Given the description of an element on the screen output the (x, y) to click on. 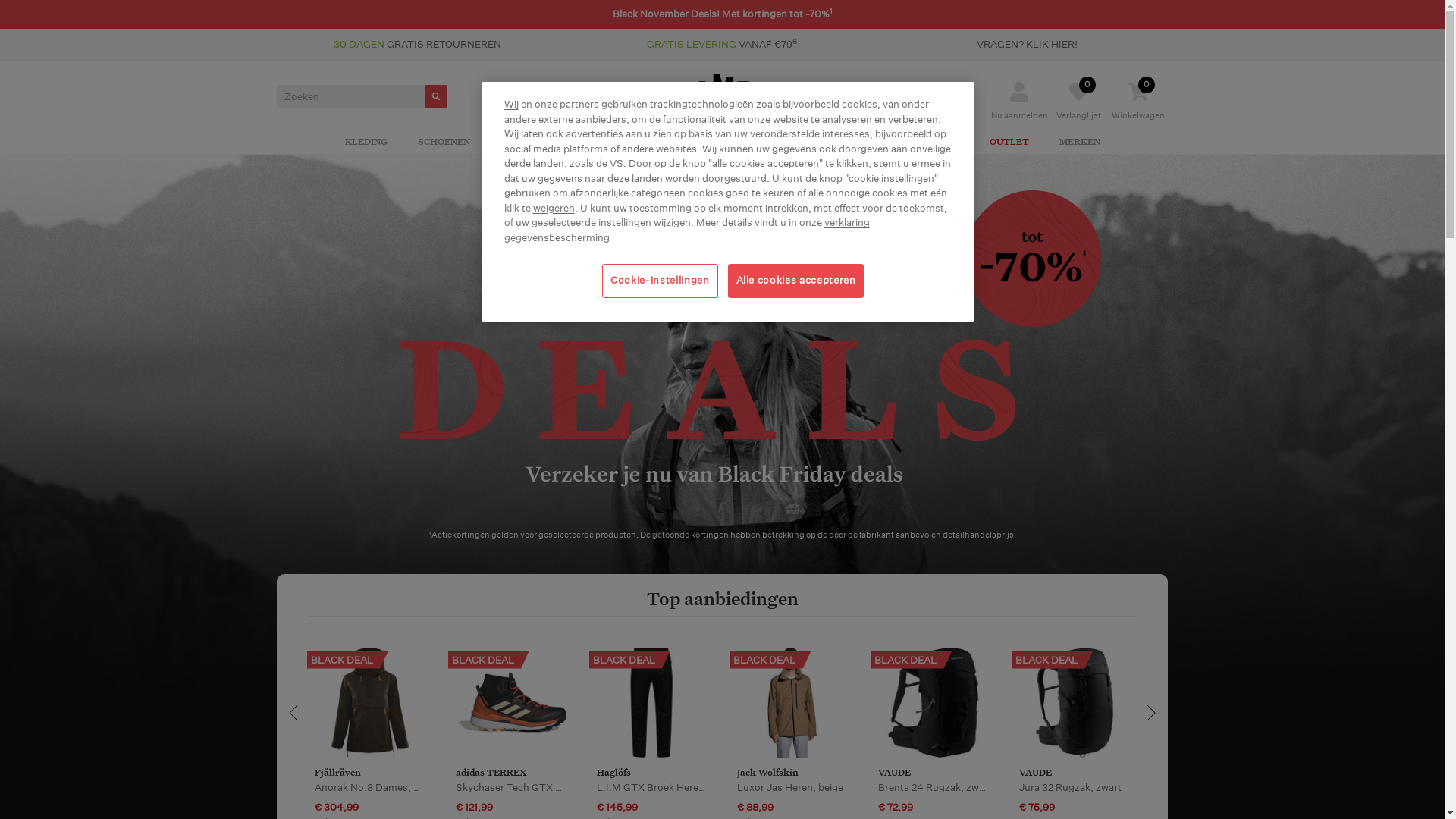
SCHOENEN Element type: text (442, 142)
KLEDING Element type: text (365, 142)
Wij Element type: text (510, 103)
VAUDE Brenta 24 Rugzak, zwart zwart Element type: hover (933, 702)
KINDEREN Element type: text (934, 142)
Verlanglijst
0 Element type: text (1077, 110)
Cookie-instellingen Element type: text (659, 280)
OUTLET Element type: text (1008, 142)
VAUDE Jura 32 Rugzak, zwart zwart Element type: hover (1074, 702)
KLIMMEN Element type: text (686, 142)
weigeren Element type: text (553, 207)
JOGGING Element type: text (759, 142)
MERKEN Element type: text (1078, 142)
UITRUSTING Element type: text (530, 142)
ACTIVITEITEN Element type: text (845, 142)
Alle cookies accepteren Element type: text (796, 280)
CAMPZ Outdoor und Camping Online Shop Element type: hover (722, 96)
verklaring gegevensbescherming Element type: text (686, 230)
CAMPING Element type: text (611, 142)
Jack Wolfskin Luxor Jas Heren, beige beige Element type: hover (792, 702)
0
Winkelwagen Element type: text (1137, 110)
